Given the description of an element on the screen output the (x, y) to click on. 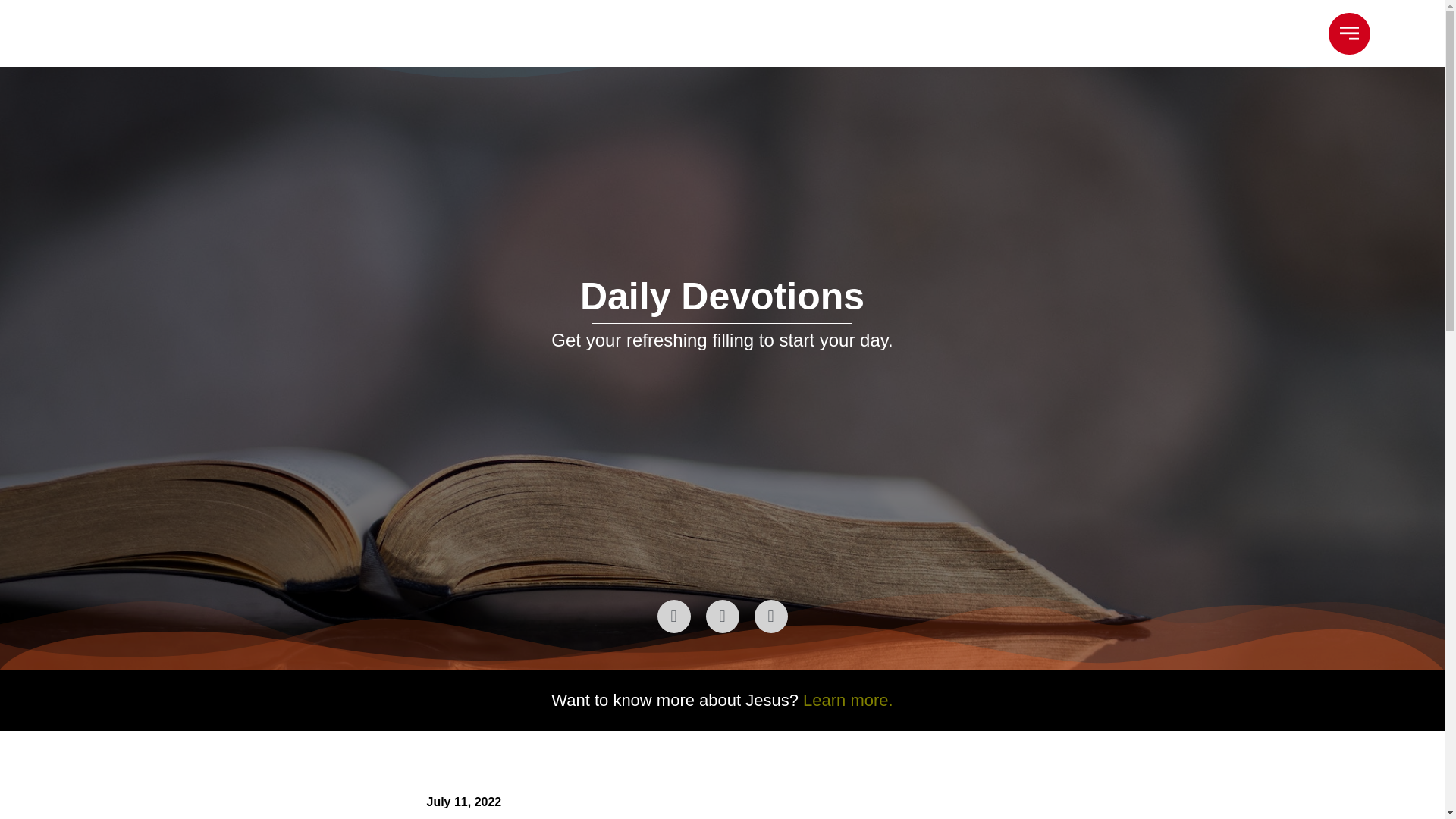
Learn more. (848, 700)
Menu (1348, 33)
Menu (1348, 33)
